Given the description of an element on the screen output the (x, y) to click on. 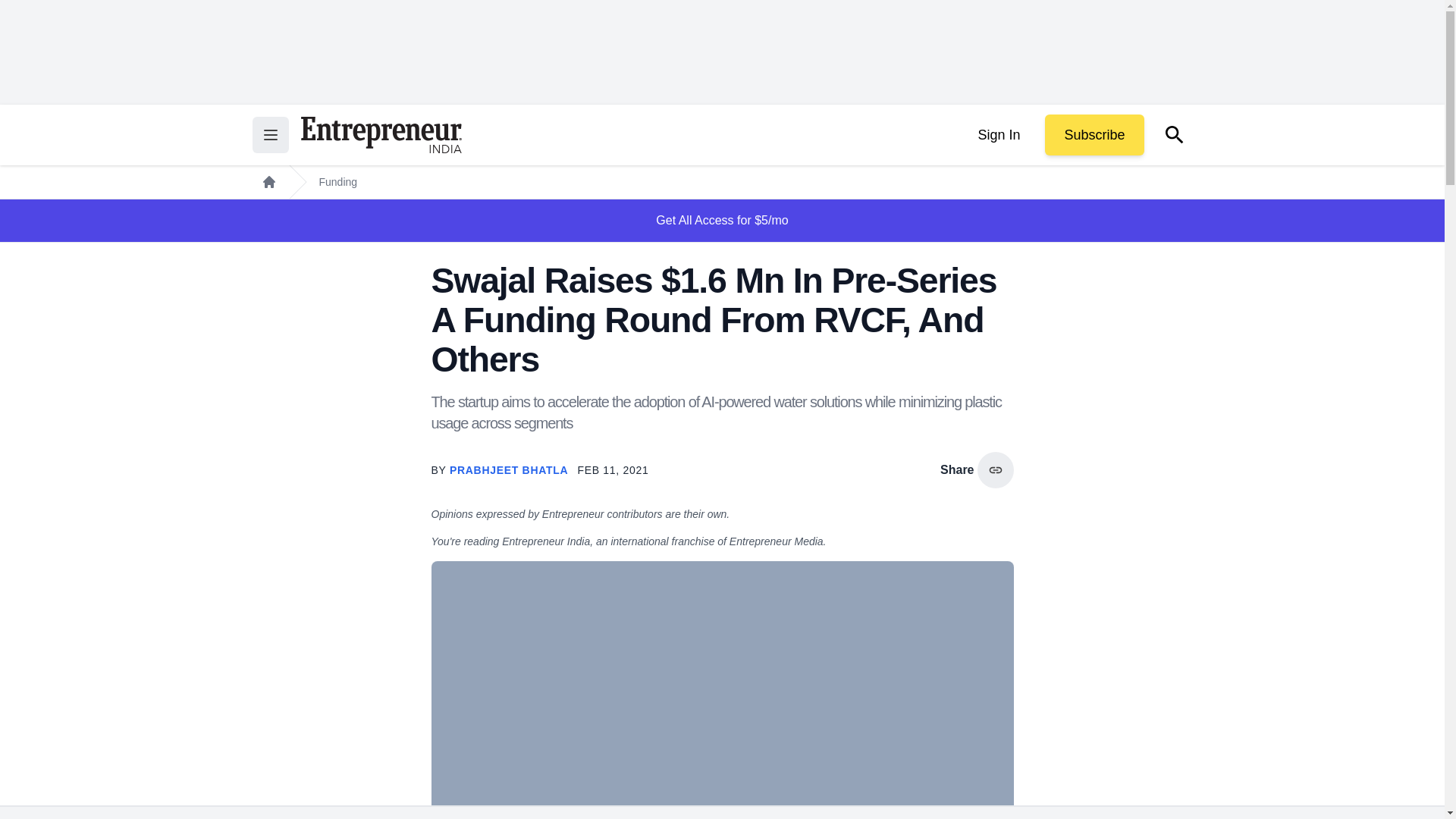
Return to the home page (380, 135)
Sign In (998, 134)
copy (994, 470)
Subscribe (1093, 134)
